Given the description of an element on the screen output the (x, y) to click on. 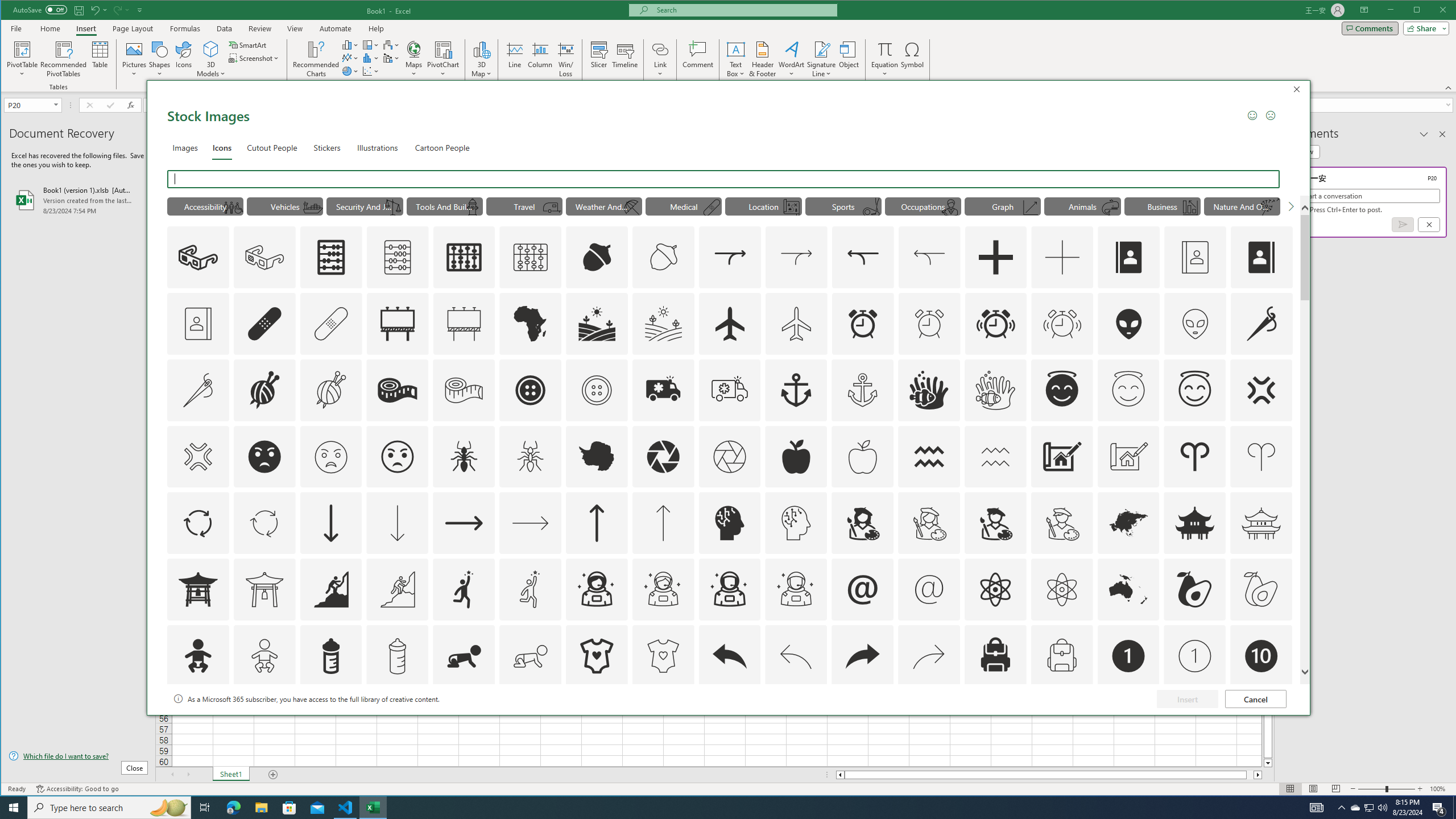
Shapes (159, 59)
AutomationID: Icons_ArrowCircle (197, 522)
AutomationID: Icons_Aperture (663, 456)
AutomationID: Icons_AstronautFemale_M (663, 589)
3D Models (211, 48)
Microsoft Store (289, 807)
AutomationID: Icons_Apple_M (863, 456)
AutomationID: Icons_Aspiration (330, 589)
AutomationID: Icons_Back_RTL (863, 655)
